Given the description of an element on the screen output the (x, y) to click on. 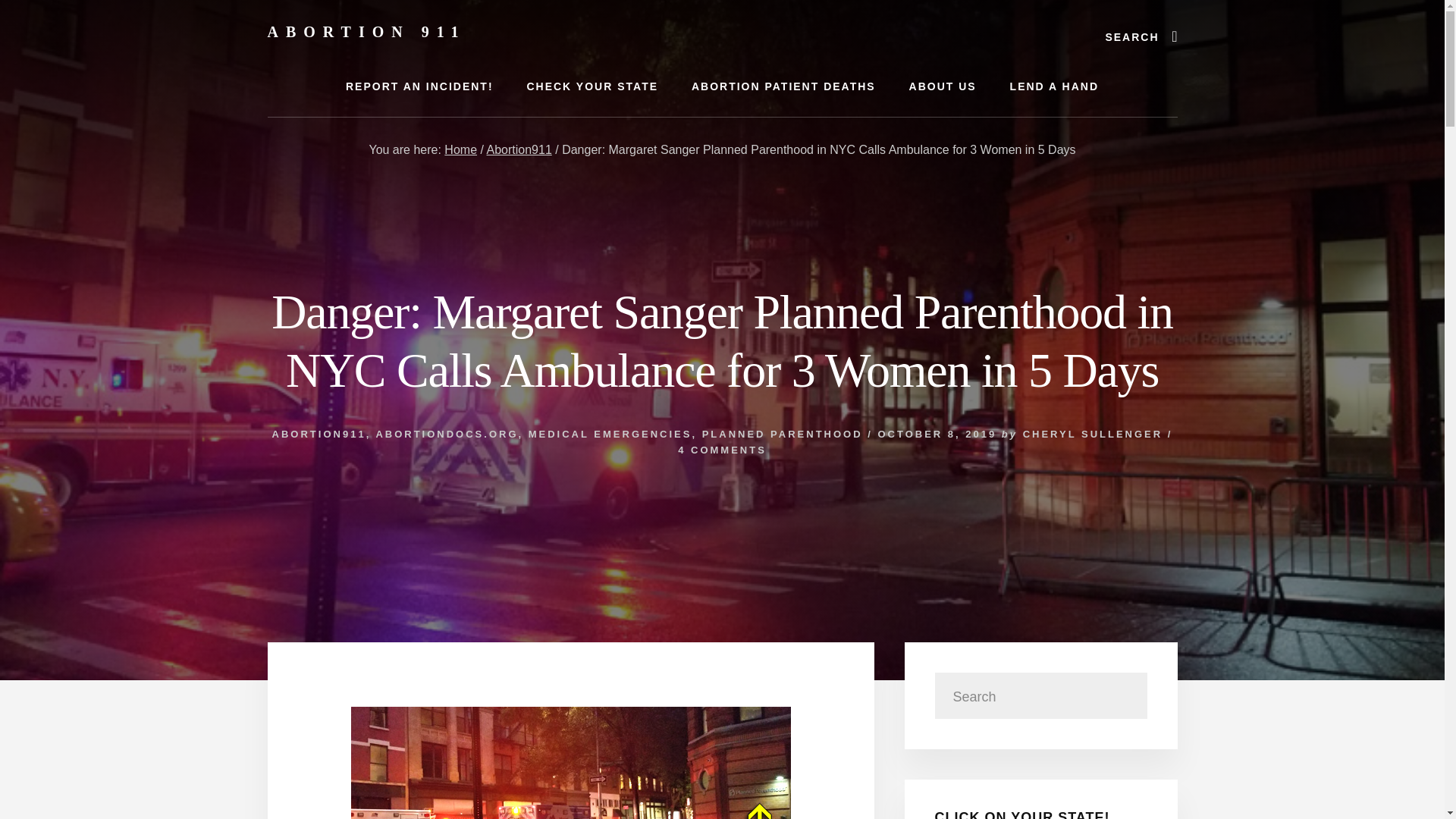
ABOUT US (942, 86)
REPORT AN INCIDENT! (419, 86)
LEND A HAND (1053, 86)
ABORTION 911 (365, 31)
Abortion911 (518, 149)
ABORTION911 (319, 433)
